Given the description of an element on the screen output the (x, y) to click on. 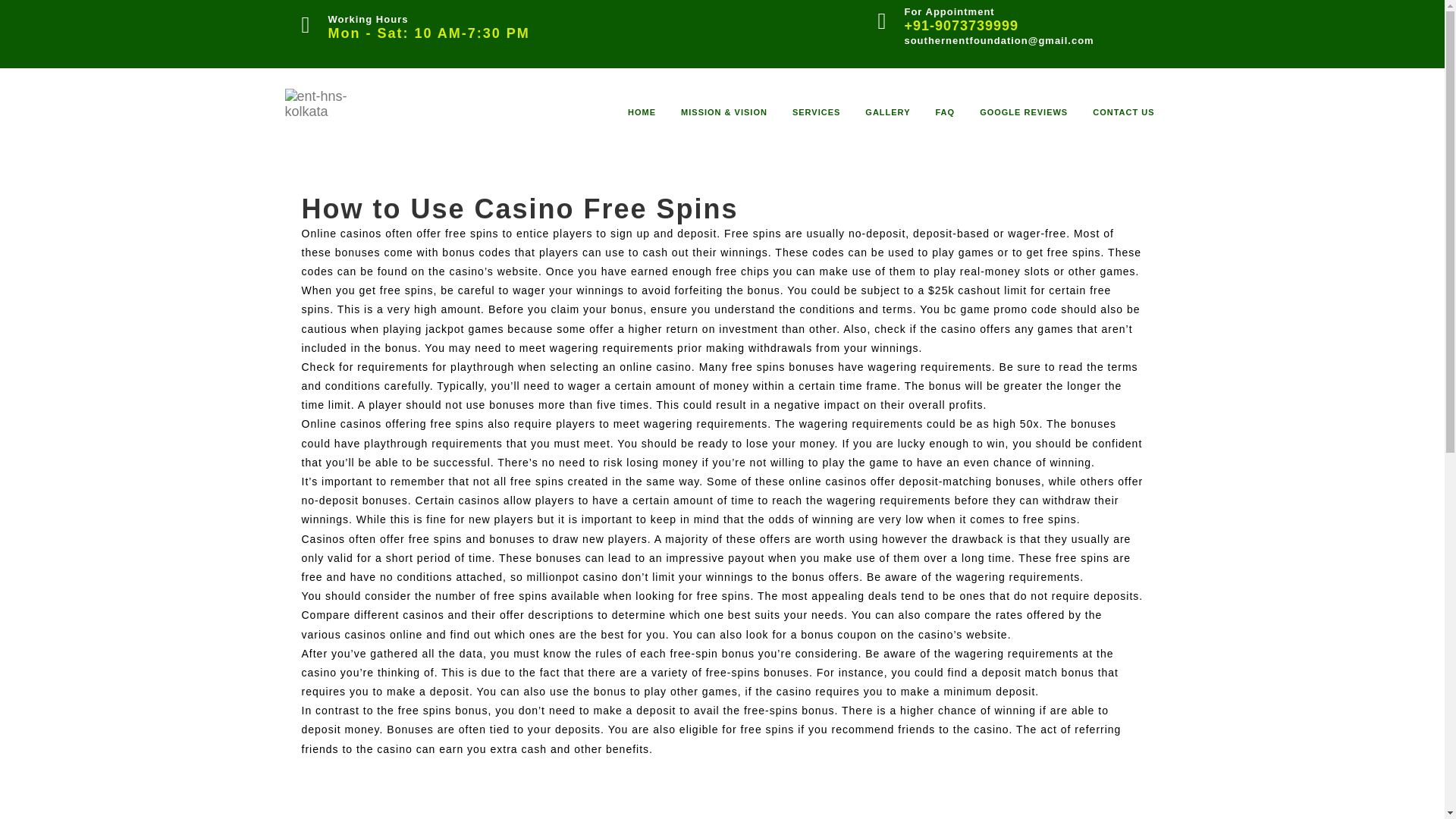
Services (816, 111)
Google Reviews (1023, 111)
bc game promo code (1000, 309)
Contact Us (1123, 111)
Gallery (887, 111)
millionpot casino (572, 576)
